Given the description of an element on the screen output the (x, y) to click on. 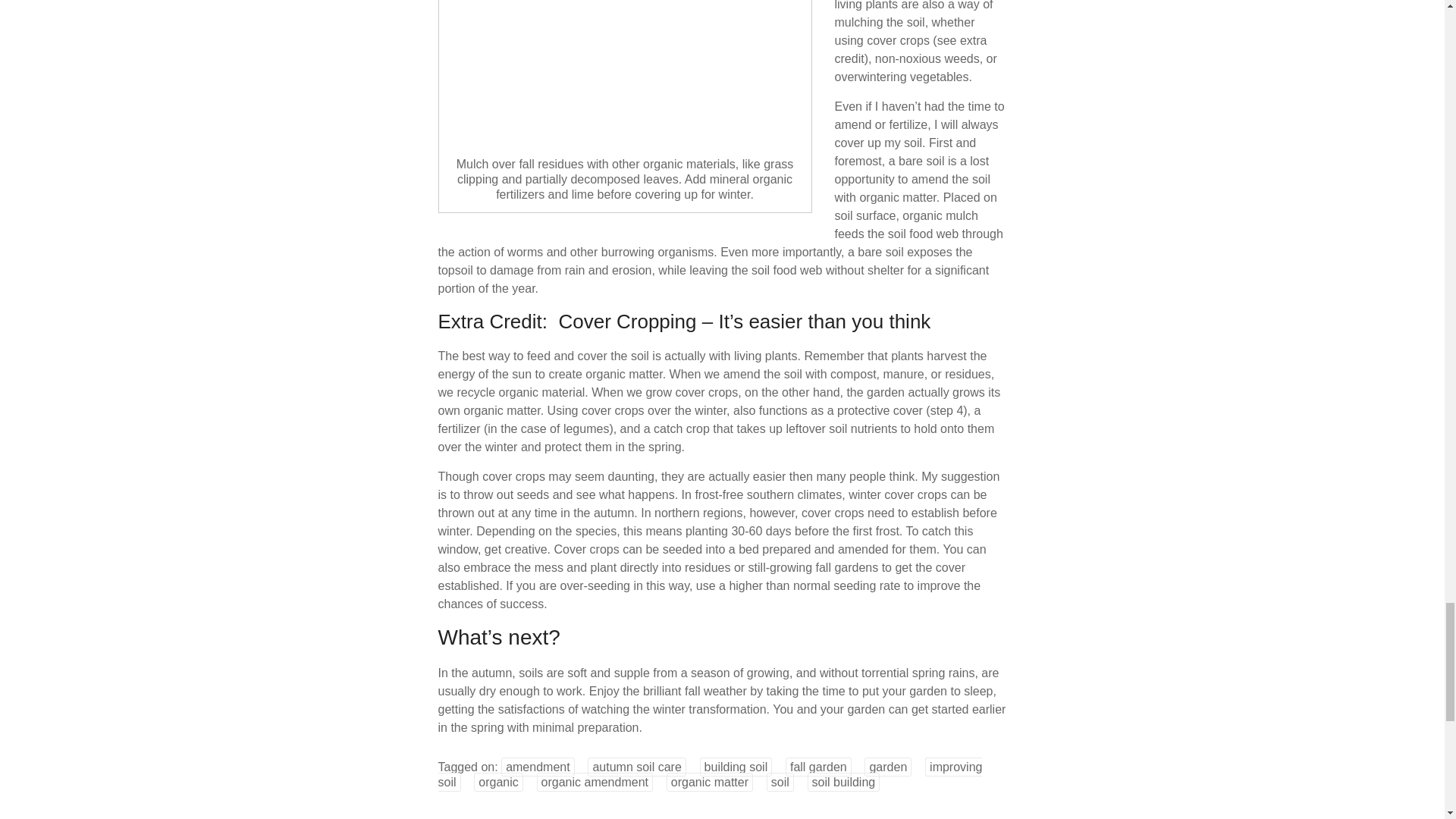
organic matter (709, 782)
improving soil (710, 774)
fall garden (818, 766)
garden (887, 766)
amendment (537, 766)
soil building (844, 782)
organic (498, 782)
soil (780, 782)
autumn soil care (636, 766)
building soil (736, 766)
